Given the description of an element on the screen output the (x, y) to click on. 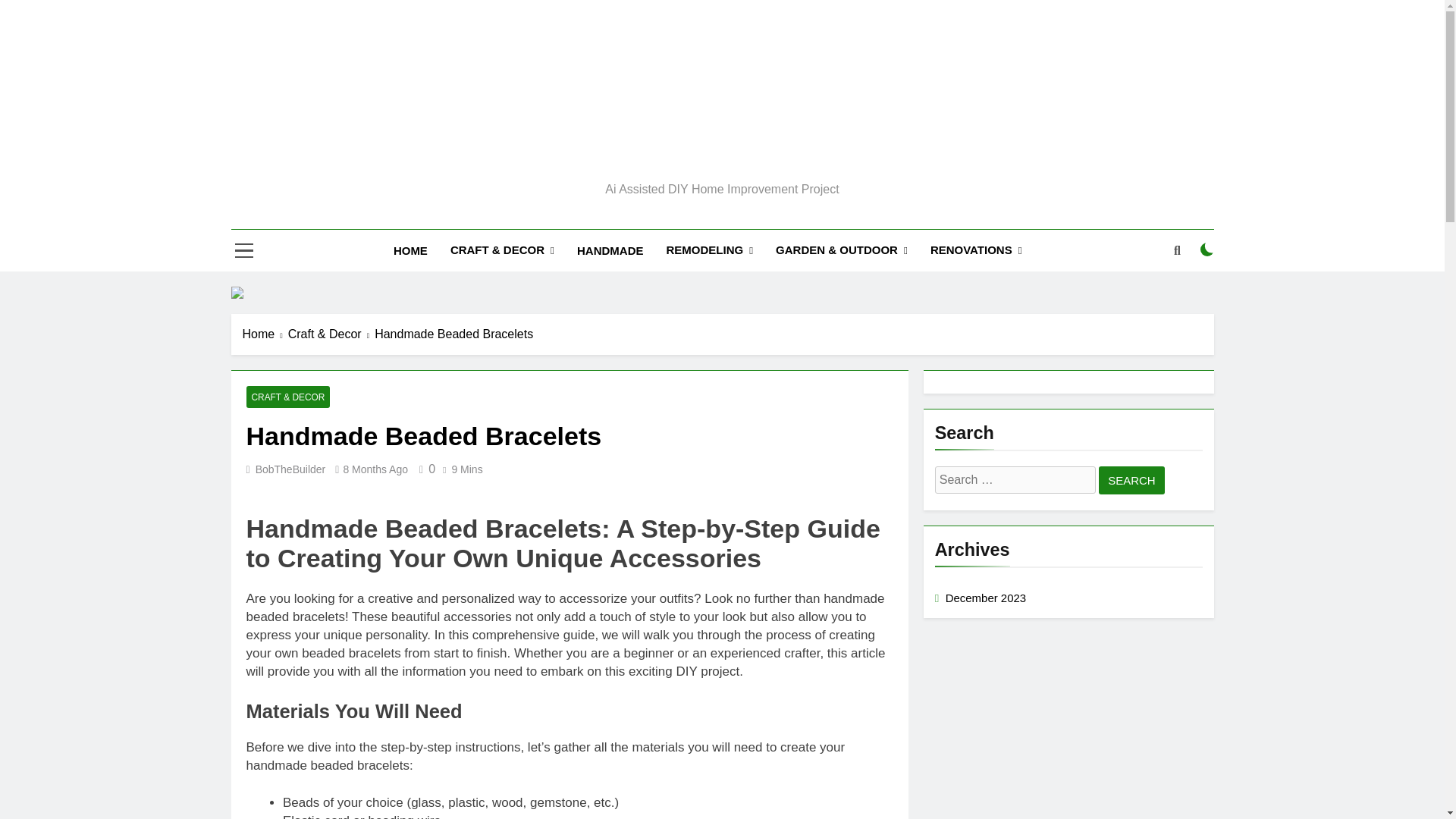
8 Months Ago (374, 469)
Search (1131, 480)
DIY Home Improvement With Ai (669, 193)
Search (1131, 480)
RENOVATIONS (975, 250)
Home (265, 334)
HANDMADE (610, 250)
BobTheBuilder (291, 469)
REMODELING (708, 250)
0 (424, 468)
HOME (410, 250)
on (1206, 249)
